Given the description of an element on the screen output the (x, y) to click on. 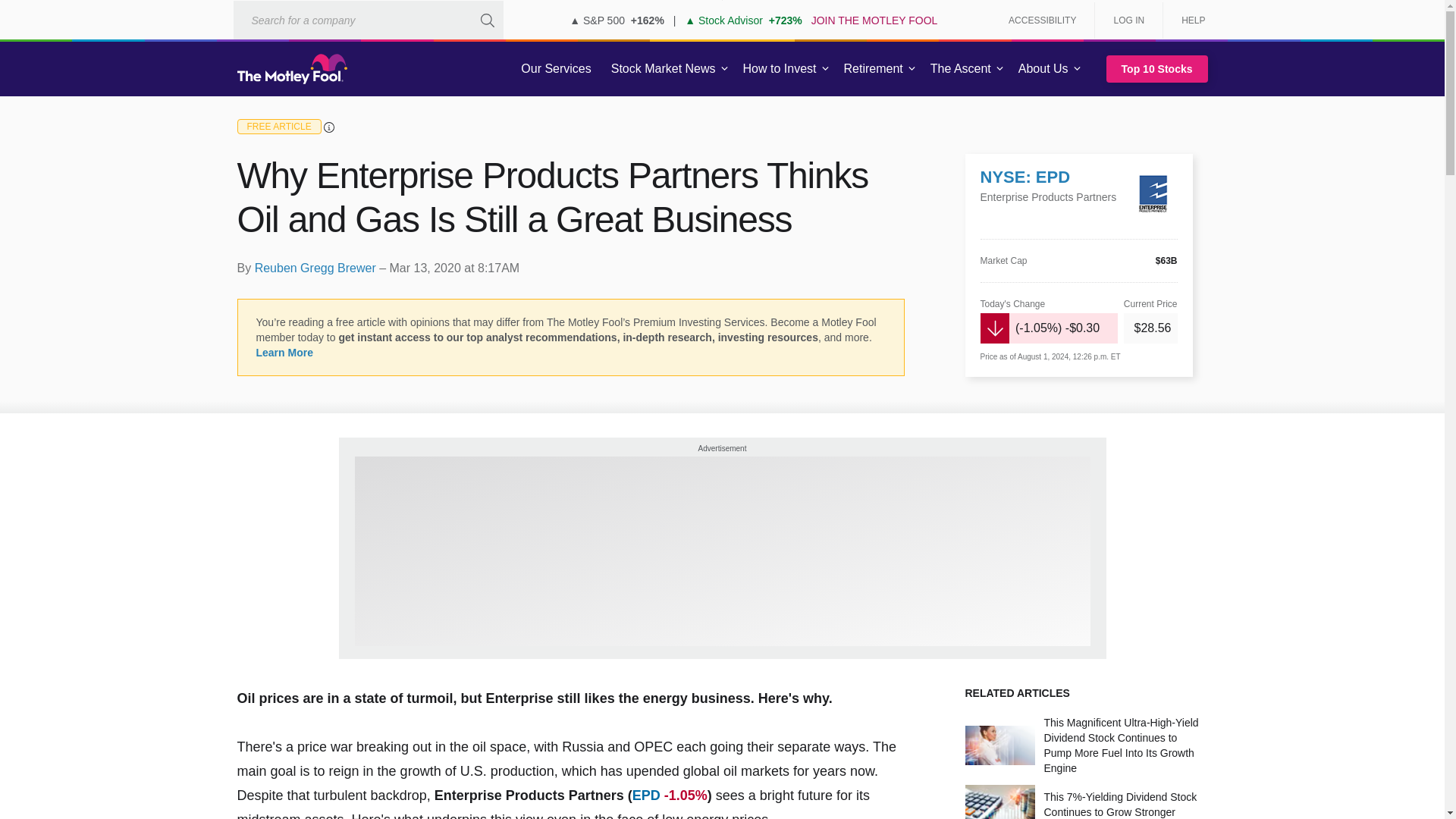
Our Services (555, 68)
HELP (1187, 19)
How to Invest (779, 68)
LOG IN (1128, 19)
ACCESSIBILITY (1042, 19)
Stock Market News (662, 68)
